Given the description of an element on the screen output the (x, y) to click on. 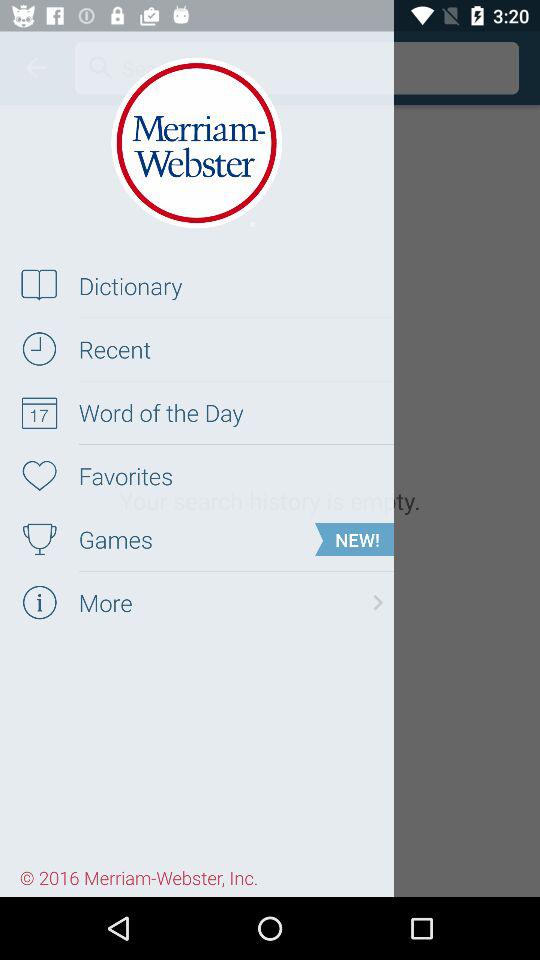
select the icon which is left to the games (38, 539)
